Given the description of an element on the screen output the (x, y) to click on. 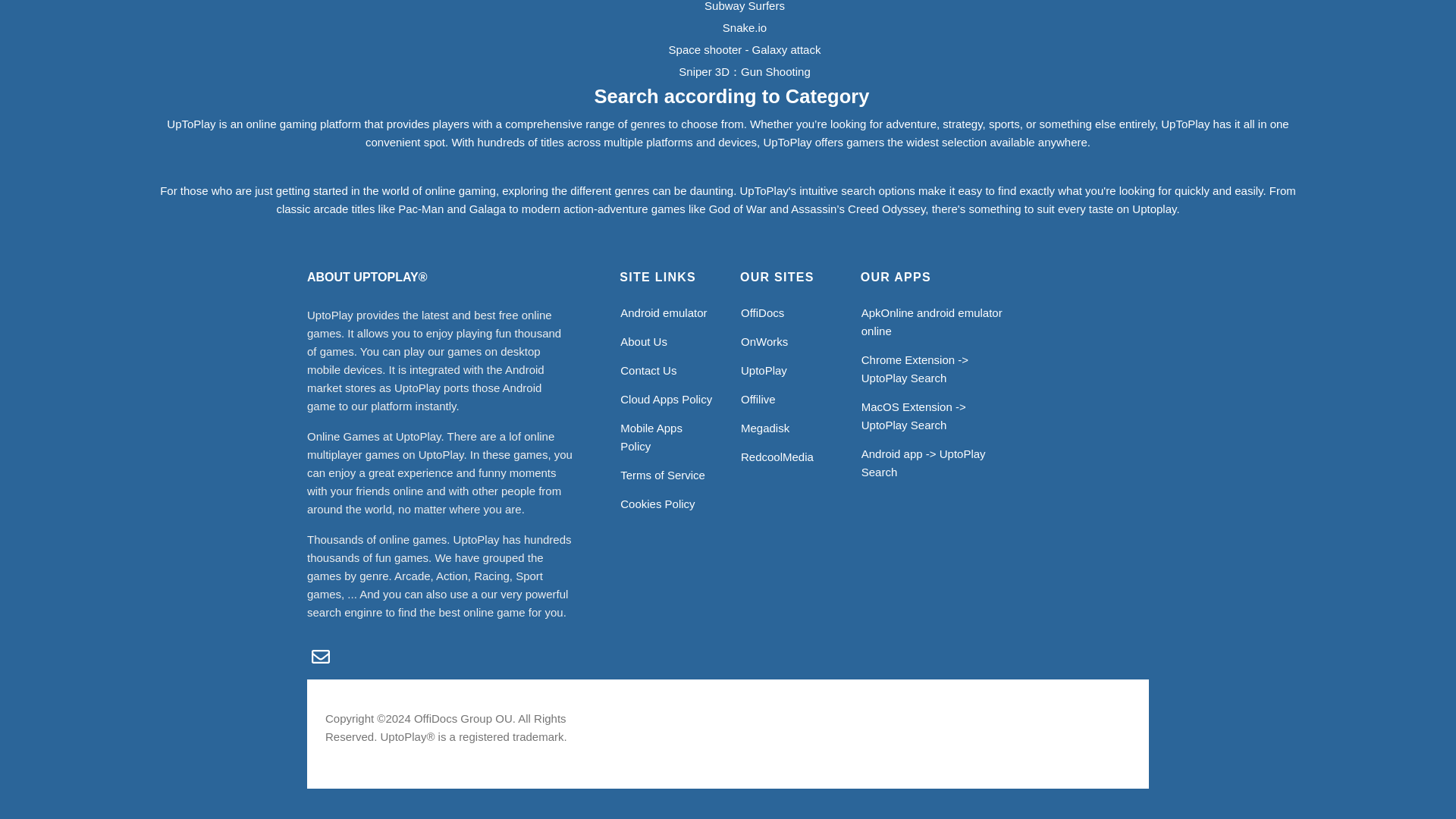
Play Space shooter - Galaxy attack game online (744, 49)
Play Subway Surfers game online (744, 6)
